Given the description of an element on the screen output the (x, y) to click on. 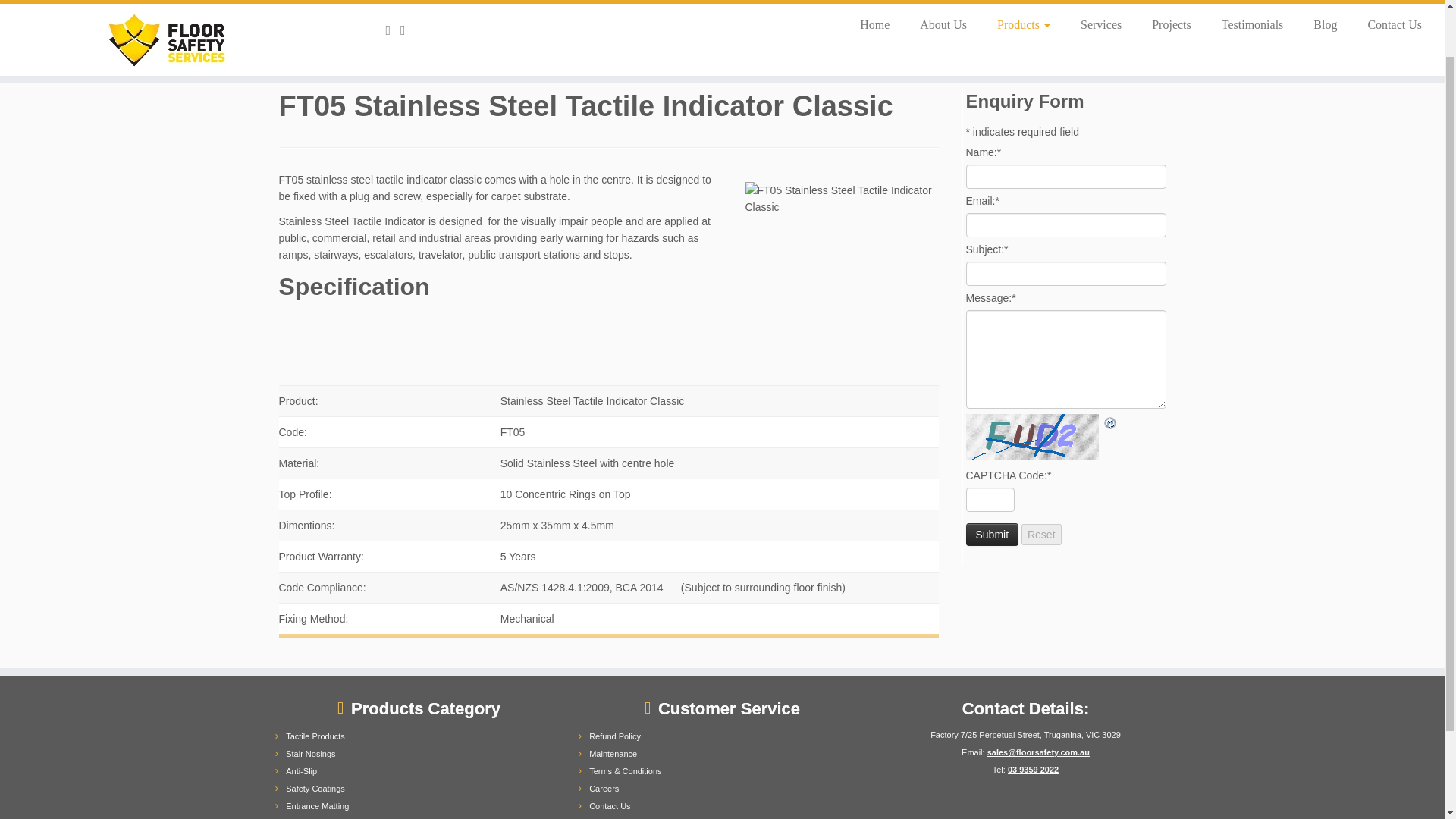
Floor Safety Services (293, 63)
Reset (1041, 534)
Products (338, 63)
Tactile Products (409, 63)
Refresh (1110, 422)
Discrete Tactile Indicators (518, 63)
Stainless Steel Tactile Studs (658, 63)
Submit (992, 534)
CAPTCHA (1034, 436)
